Given the description of an element on the screen output the (x, y) to click on. 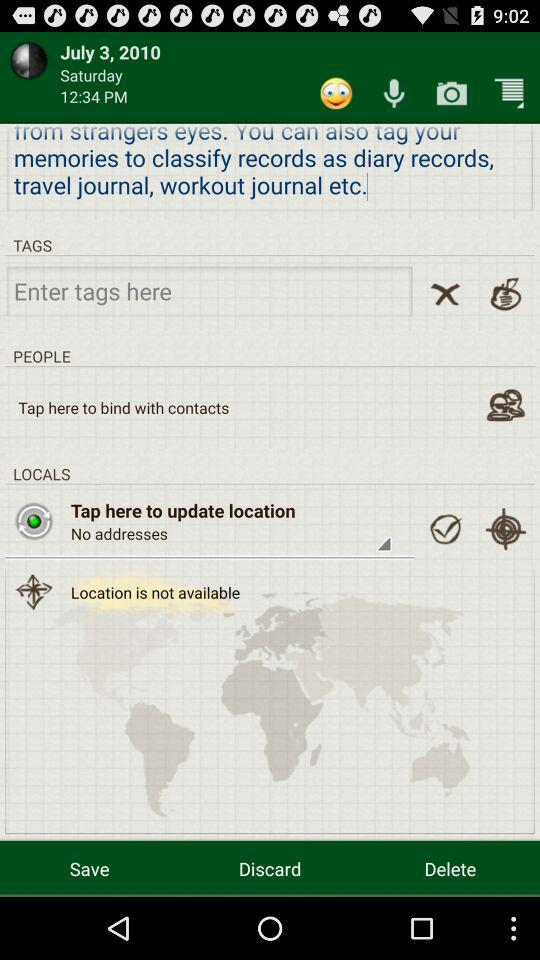
swipe until the discard item (270, 868)
